Given the description of an element on the screen output the (x, y) to click on. 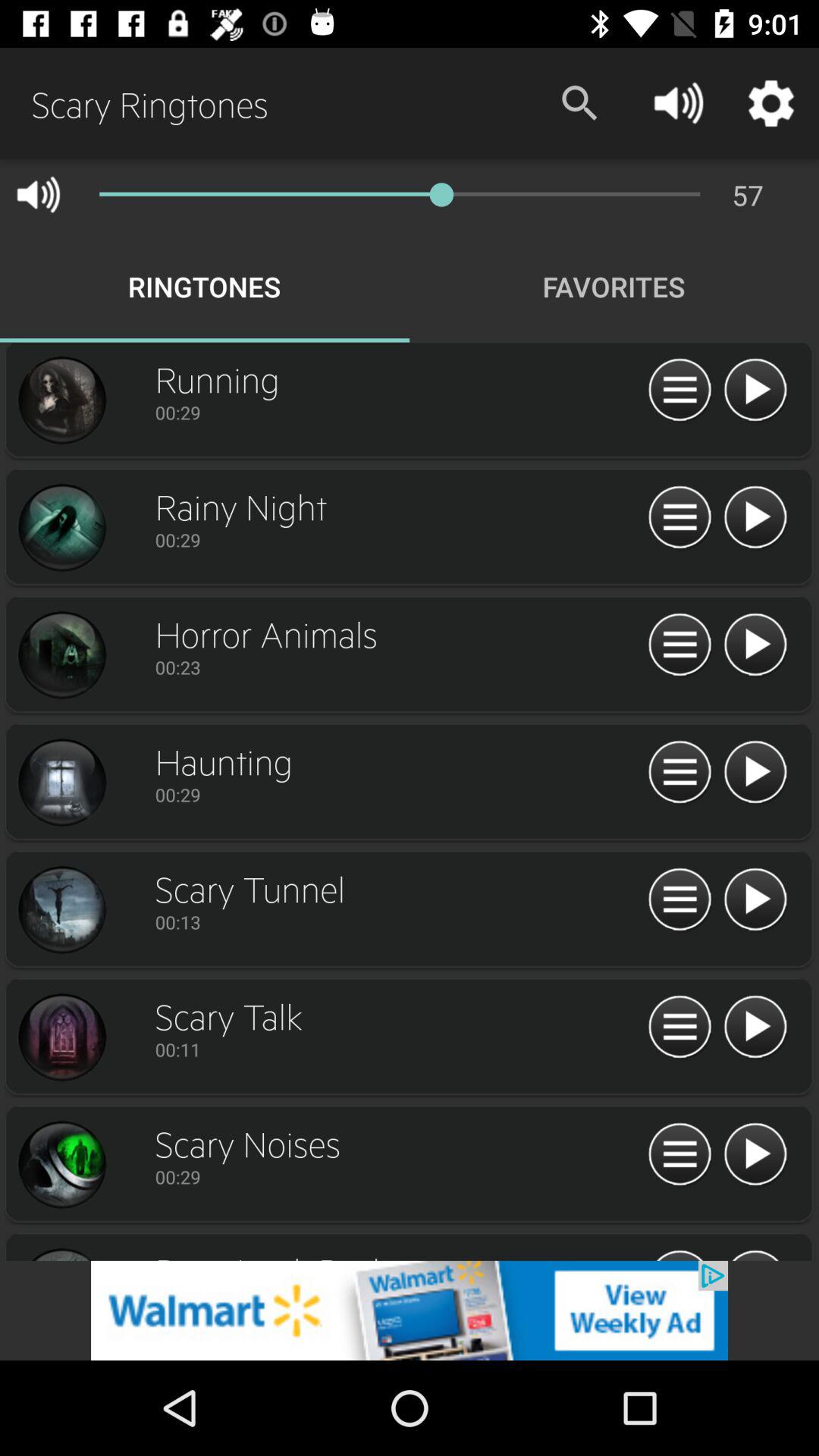
select ringtone (61, 655)
